Given the description of an element on the screen output the (x, y) to click on. 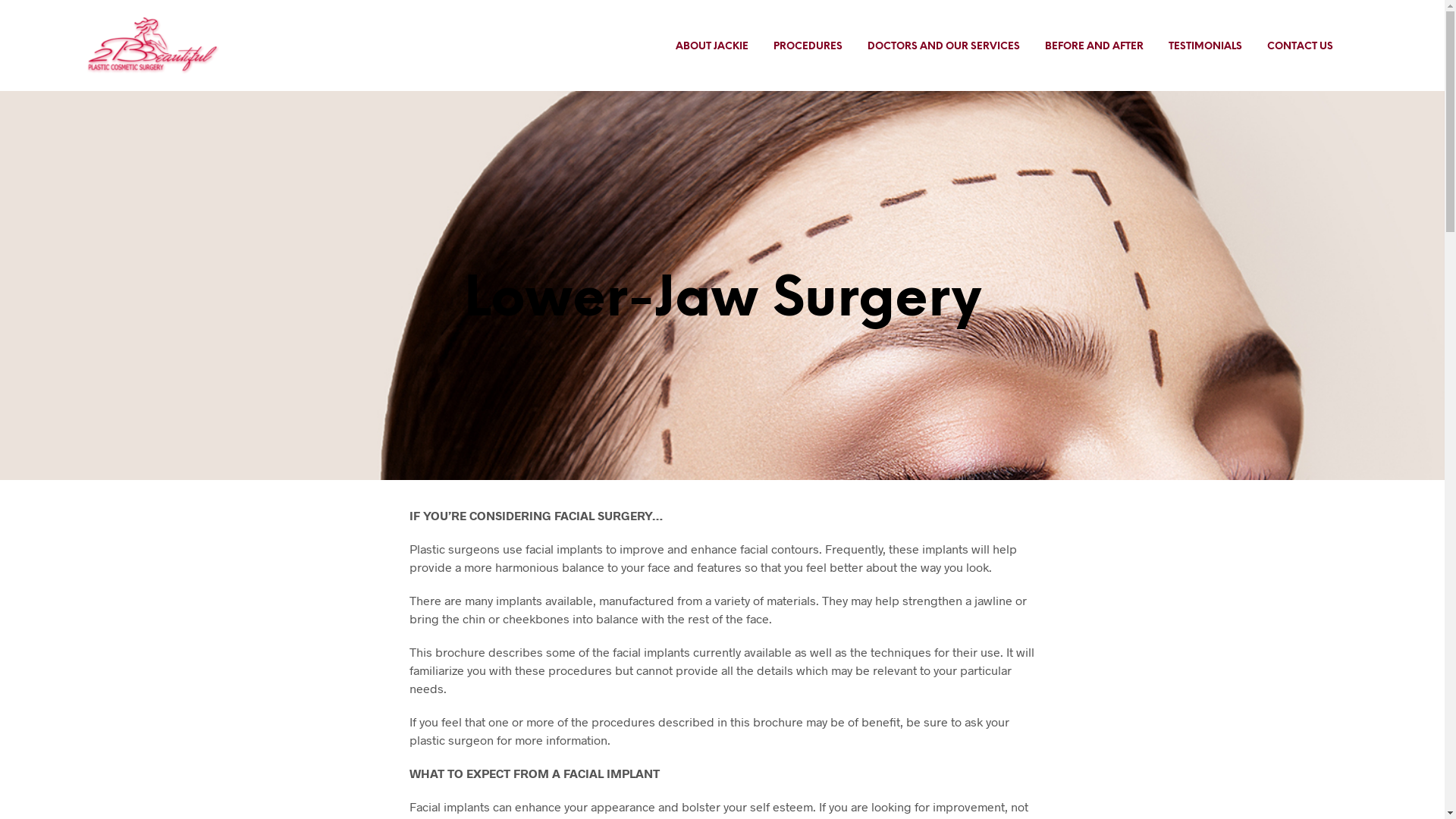
PROCEDURES Element type: text (807, 46)
DOCTORS AND OUR SERVICES Element type: text (942, 46)
TESTIMONIALS Element type: text (1205, 46)
CONTACT US Element type: text (1299, 46)
BEFORE AND AFTER Element type: text (1093, 46)
ABOUT JACKIE Element type: text (711, 46)
